Given the description of an element on the screen output the (x, y) to click on. 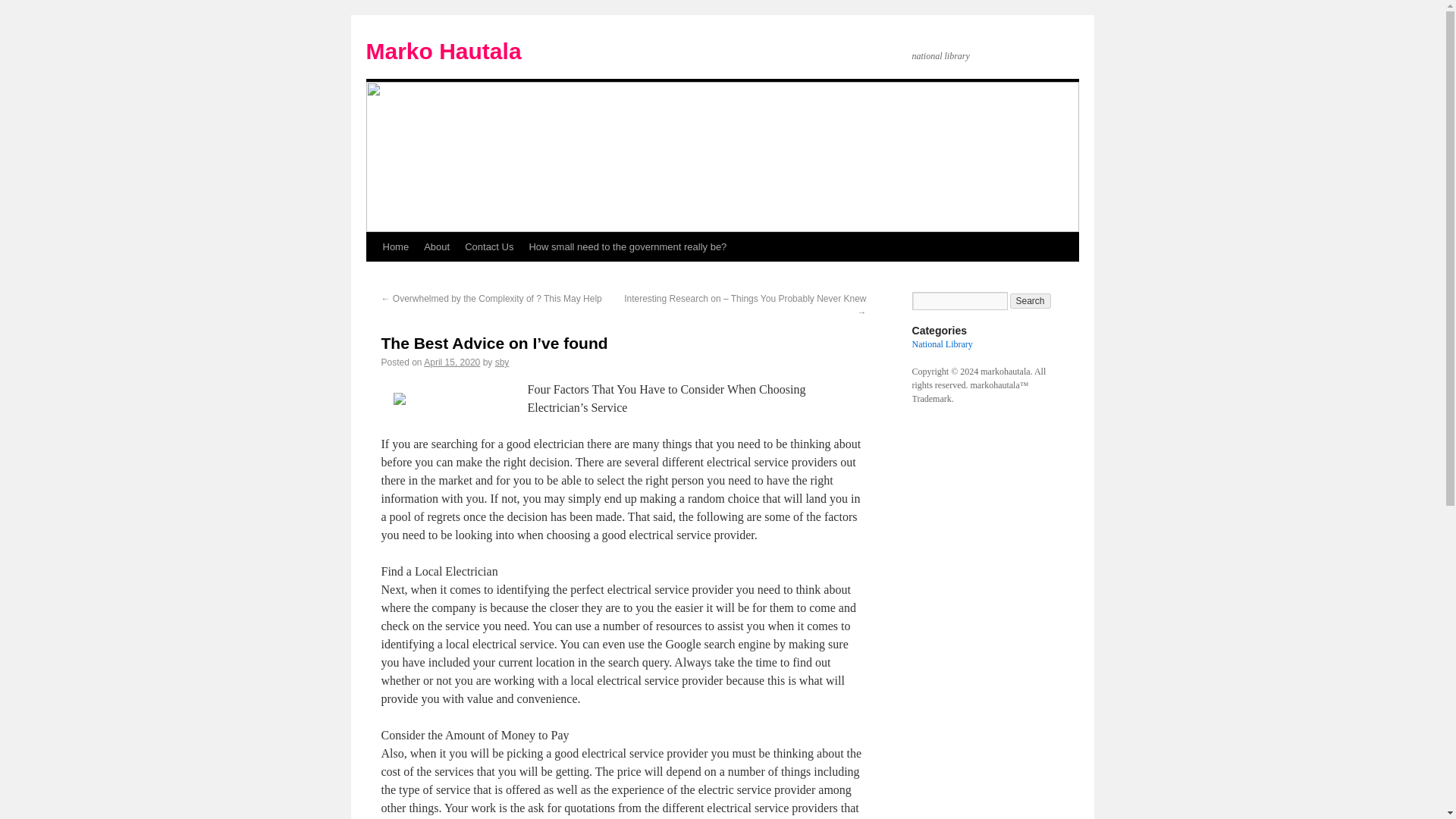
Marko Hautala (443, 50)
How small need to the government really be? (627, 246)
April 15, 2020 (451, 362)
National Library (941, 344)
Marko Hautala (443, 50)
3:16 pm (451, 362)
View all posts by sby (502, 362)
Search (1030, 300)
About (436, 246)
Contact Us (489, 246)
